Given the description of an element on the screen output the (x, y) to click on. 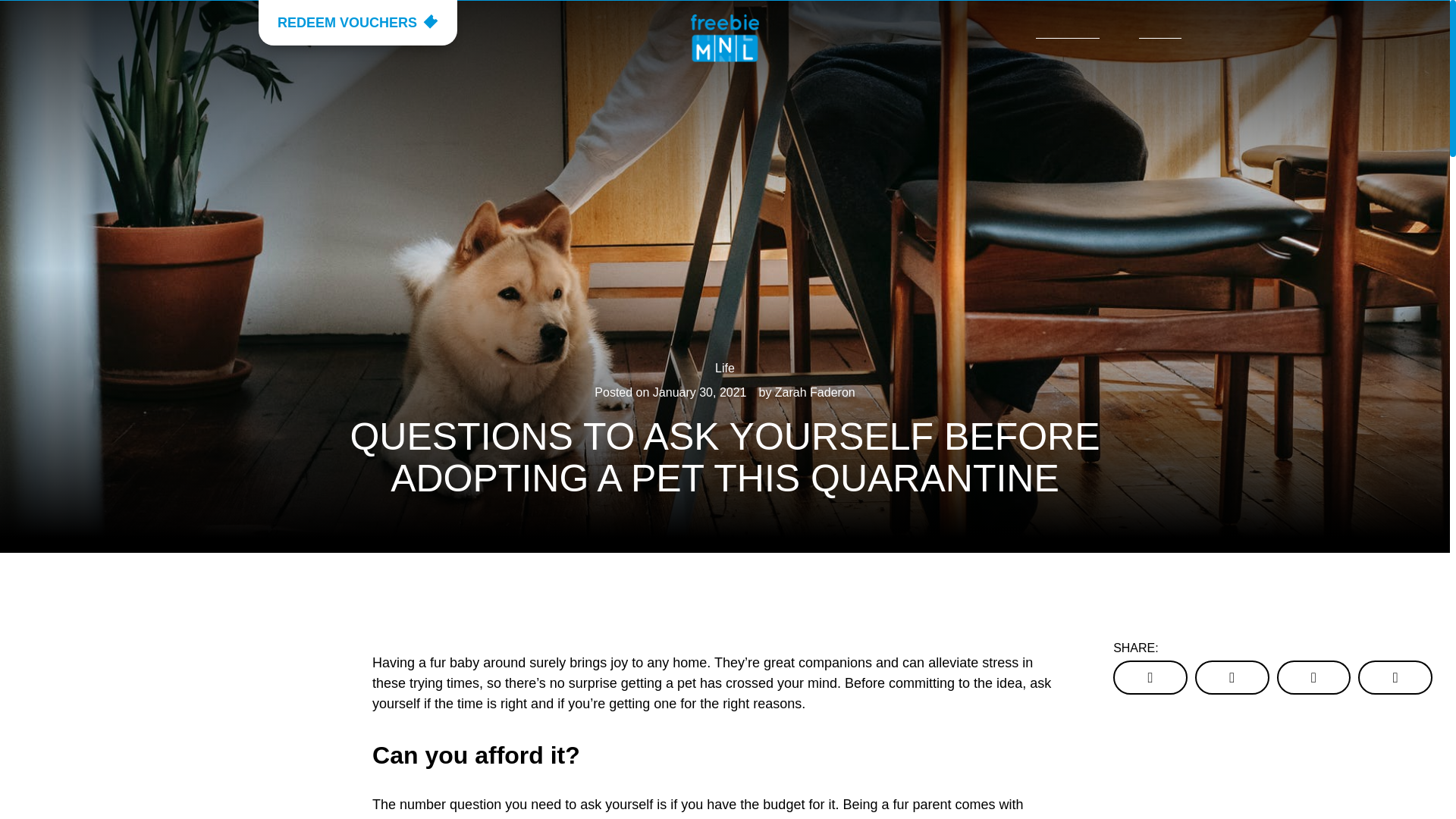
REDEEM VOUCHERS (358, 22)
SEARCH (1067, 30)
MENU (1164, 30)
